Given the description of an element on the screen output the (x, y) to click on. 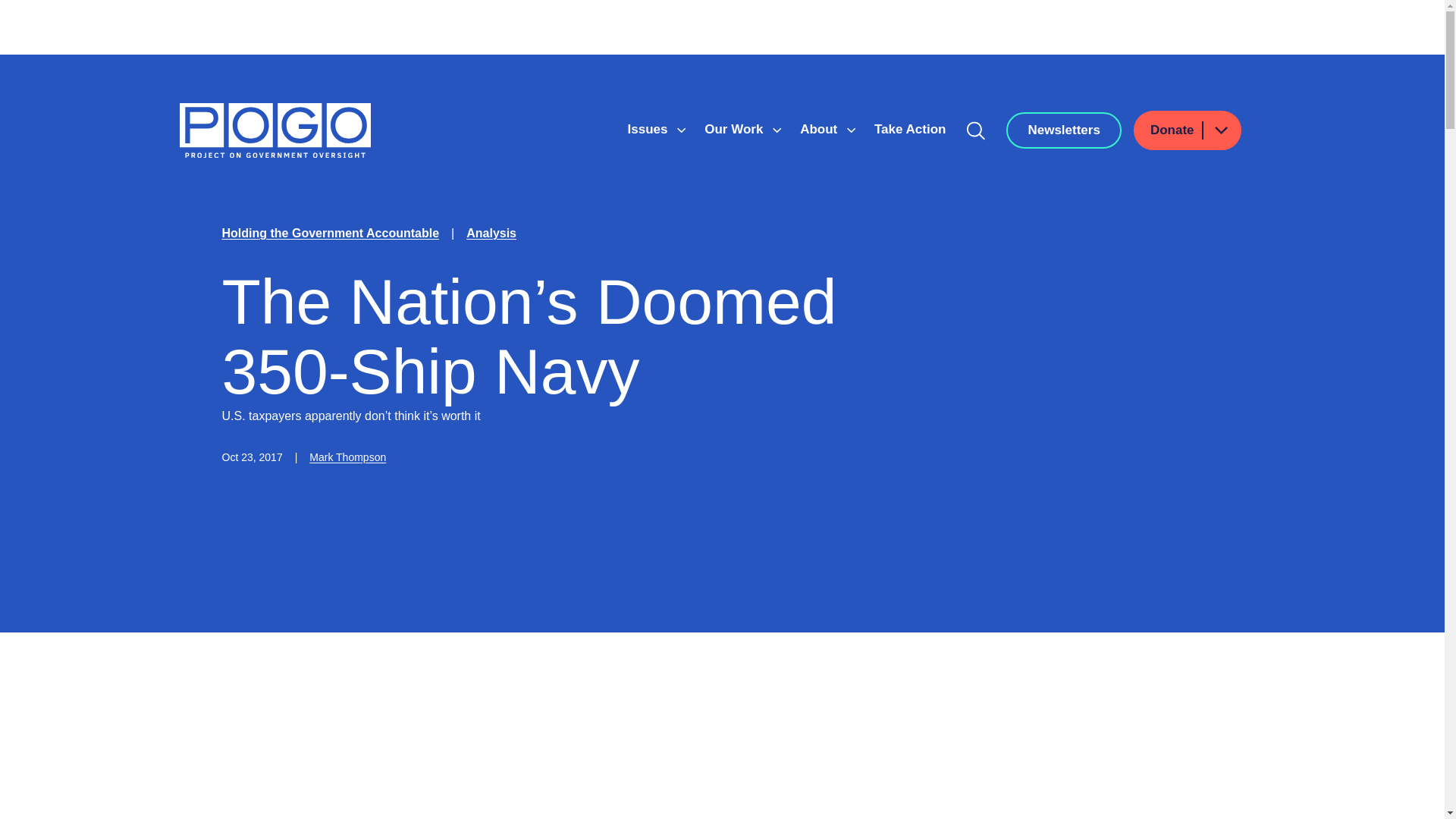
Our Work (735, 129)
Home (274, 130)
Show submenu for Issues (681, 130)
Take Action (909, 129)
Show submenu for Our Work (777, 130)
Newsletters (1063, 130)
Show submenu for Donate (1220, 129)
About (820, 129)
Donate (1187, 130)
Search (976, 130)
